Given the description of an element on the screen output the (x, y) to click on. 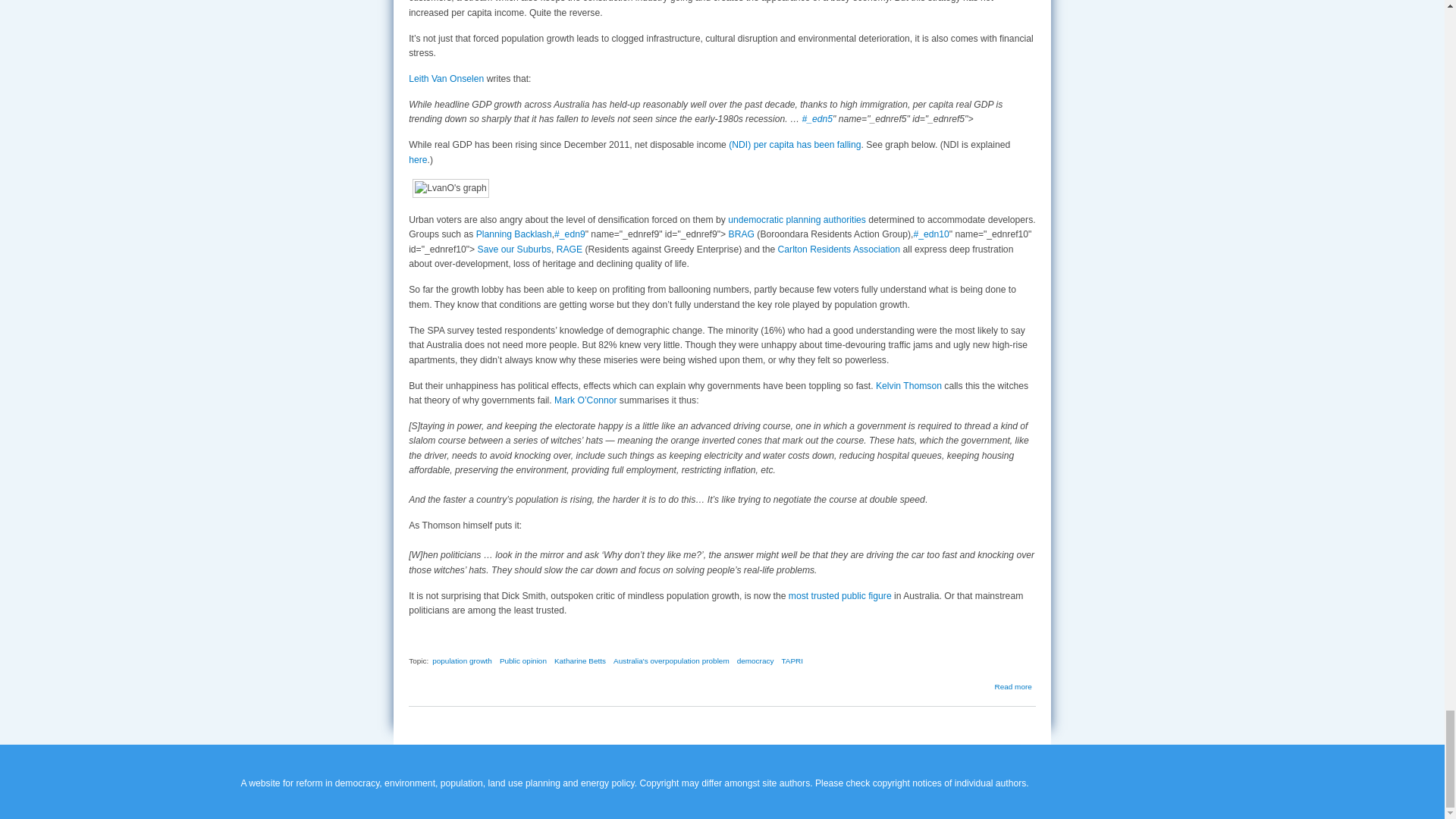
Population growth, polls and politics by Katharine Betts (1013, 686)
